Given the description of an element on the screen output the (x, y) to click on. 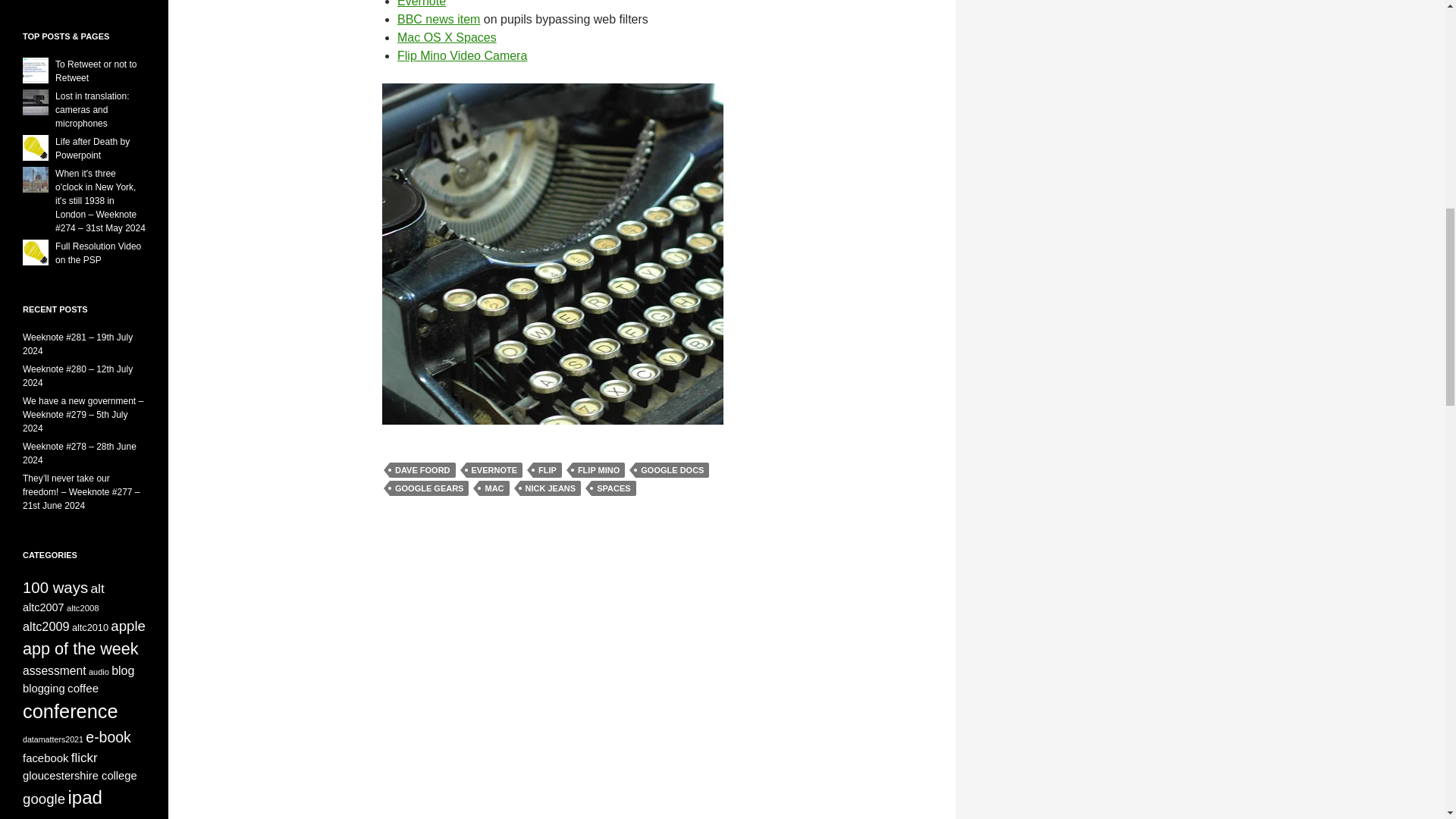
GOOGLE GEARS (429, 488)
Full Resolution Video on the PSP (98, 252)
SPACES (612, 488)
MAC (493, 488)
Lost in translation: cameras and microphones (92, 109)
Flip Mino Video Camera (462, 55)
To Retweet or not to Retweet (95, 70)
FLIP (547, 469)
NICK JEANS (549, 488)
Mac OS X Spaces (446, 37)
Life after Death by Powerpoint (92, 148)
EVERNOTE (493, 469)
FLIP MINO (598, 469)
Evernote (421, 3)
BBC news item (438, 19)
